Given the description of an element on the screen output the (x, y) to click on. 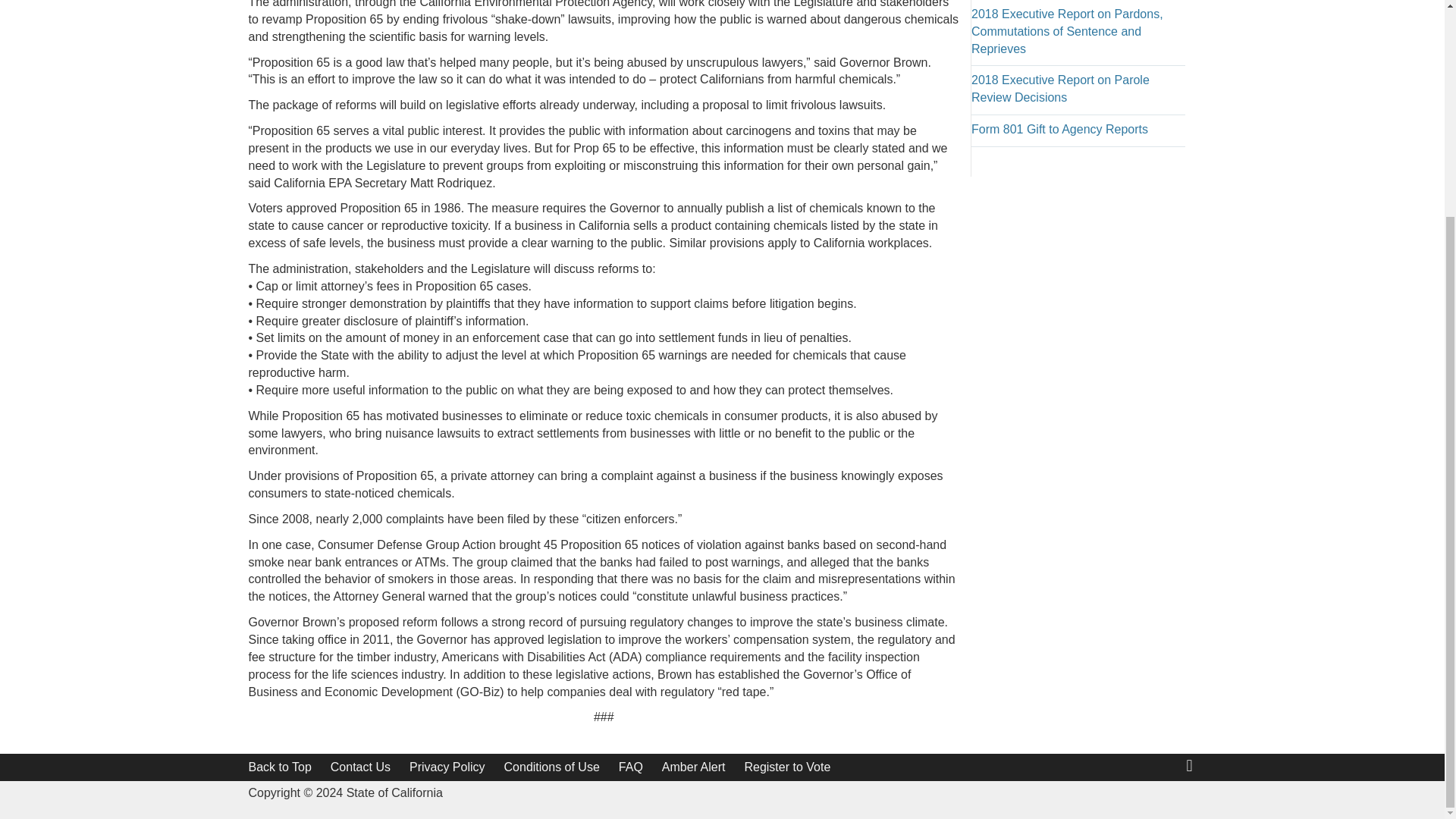
Back to Top (279, 766)
2018 Executive Report on Parole Review Decisions (1060, 88)
Form 801 Gift to Agency Reports (1059, 128)
